Given the description of an element on the screen output the (x, y) to click on. 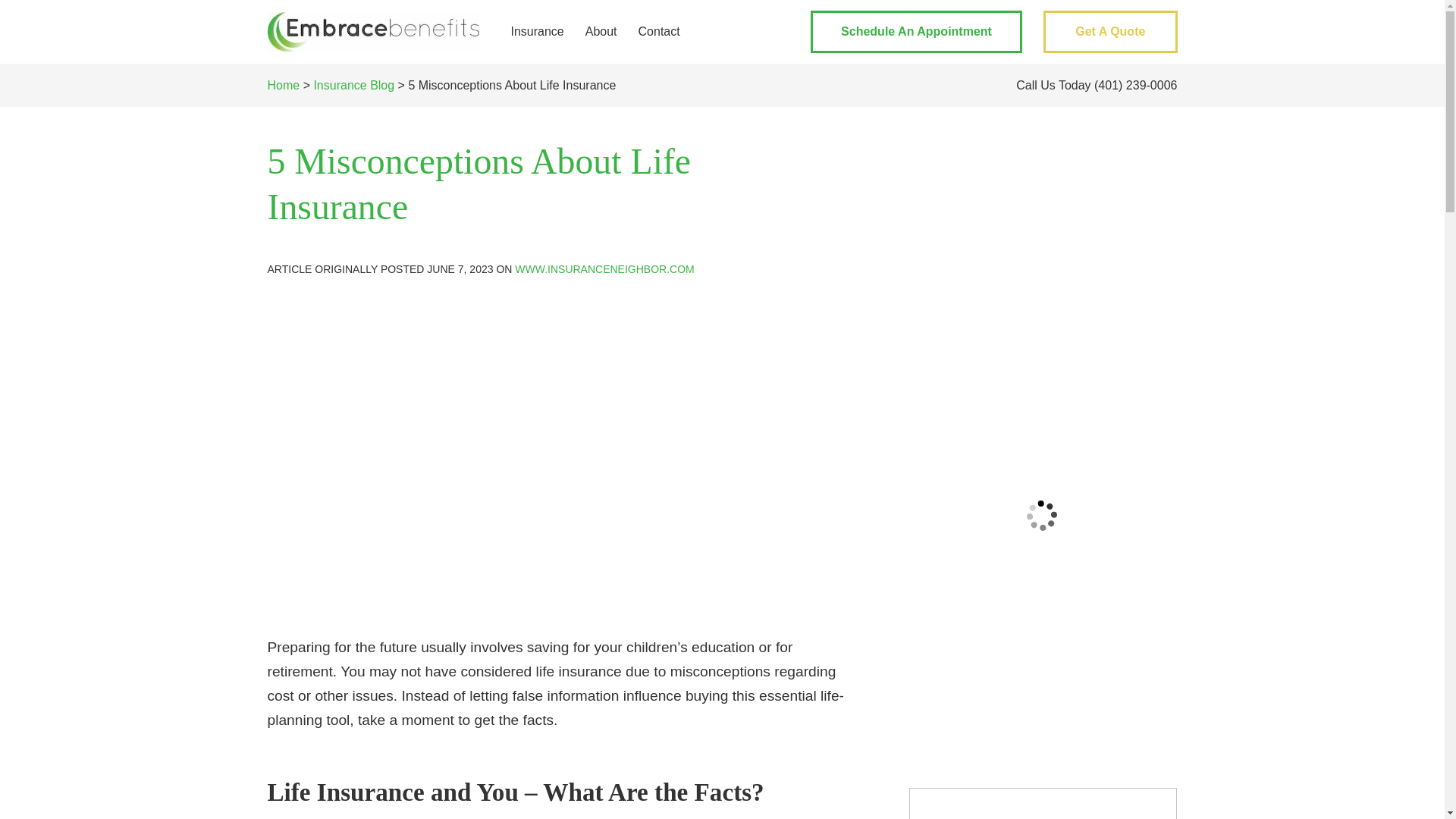
Insurance (536, 31)
Insurance Blog (353, 84)
About (601, 31)
Contact (658, 31)
Home Page (372, 31)
Home (282, 84)
Logo (372, 31)
